Given the description of an element on the screen output the (x, y) to click on. 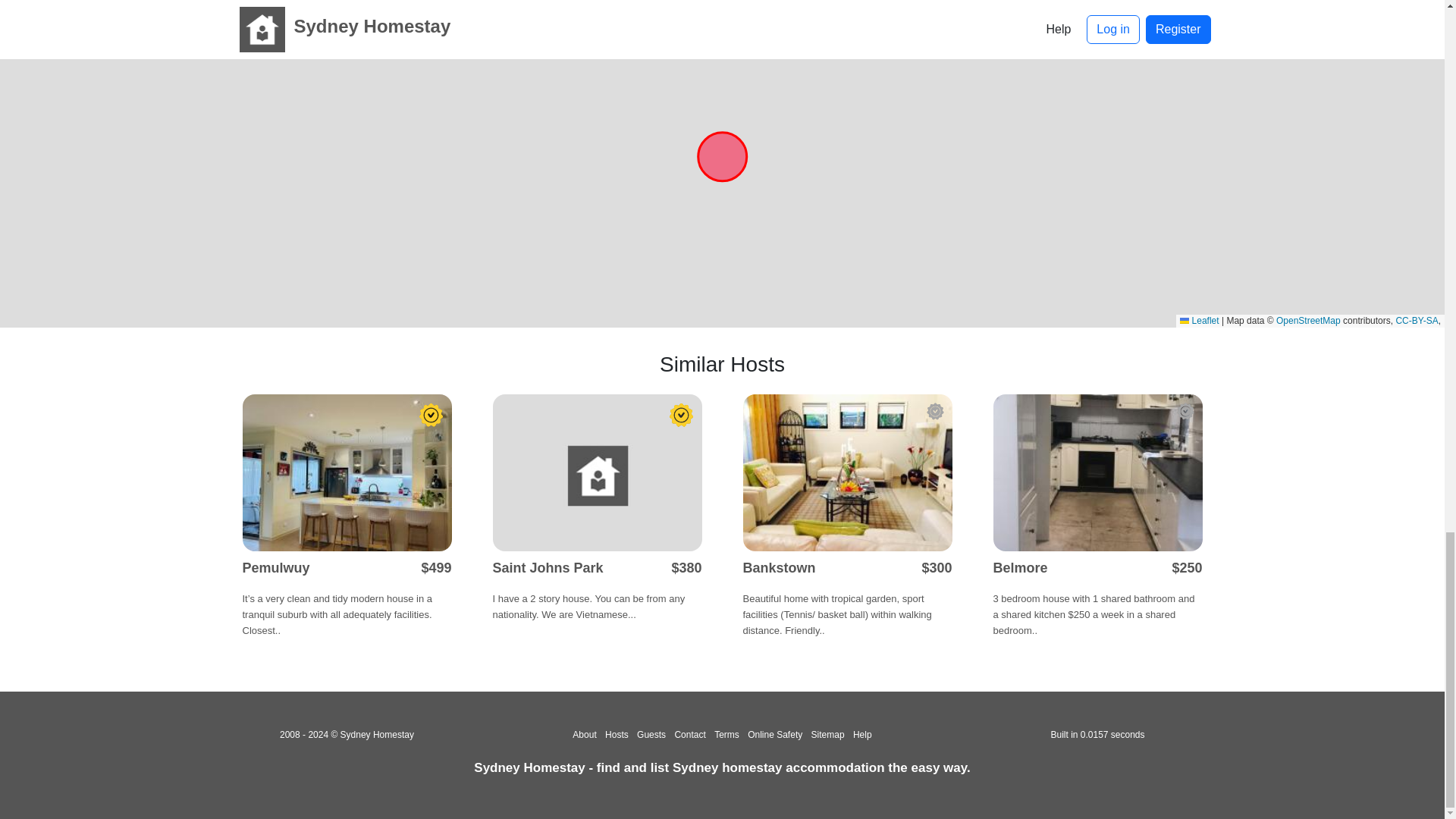
Leaflet (1198, 320)
Help (862, 734)
Zoom out (20, 29)
Sitemap (827, 734)
Zoom in (20, 9)
Terms (726, 734)
Online Safety (775, 734)
CC-BY-SA (1416, 320)
OpenStreetMap (1308, 320)
Contact (689, 734)
Hosts (616, 734)
A JavaScript library for interactive maps (1198, 320)
Guests (651, 734)
About (583, 734)
